Given the description of an element on the screen output the (x, y) to click on. 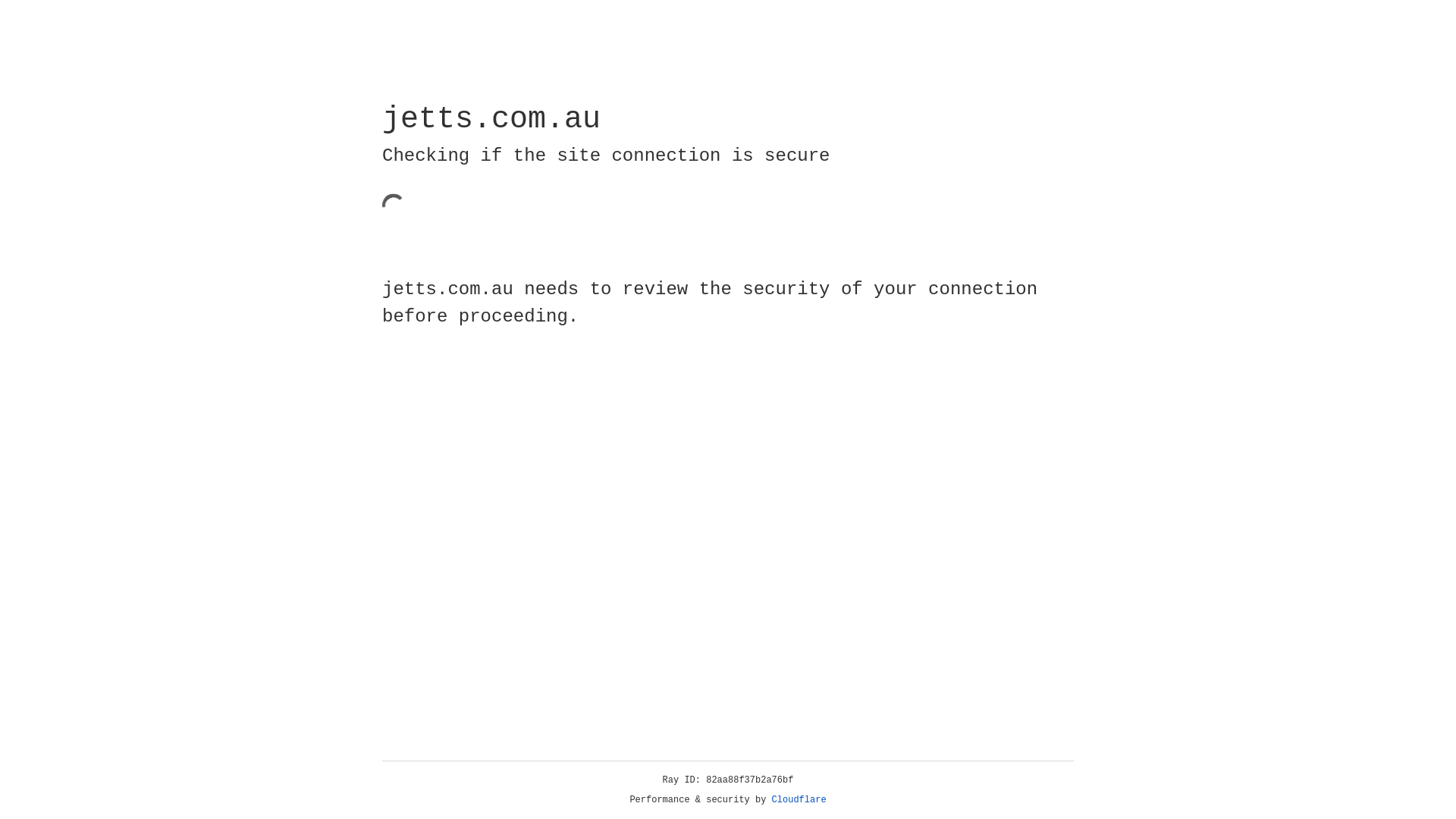
Cloudflare Element type: text (798, 799)
